Given the description of an element on the screen output the (x, y) to click on. 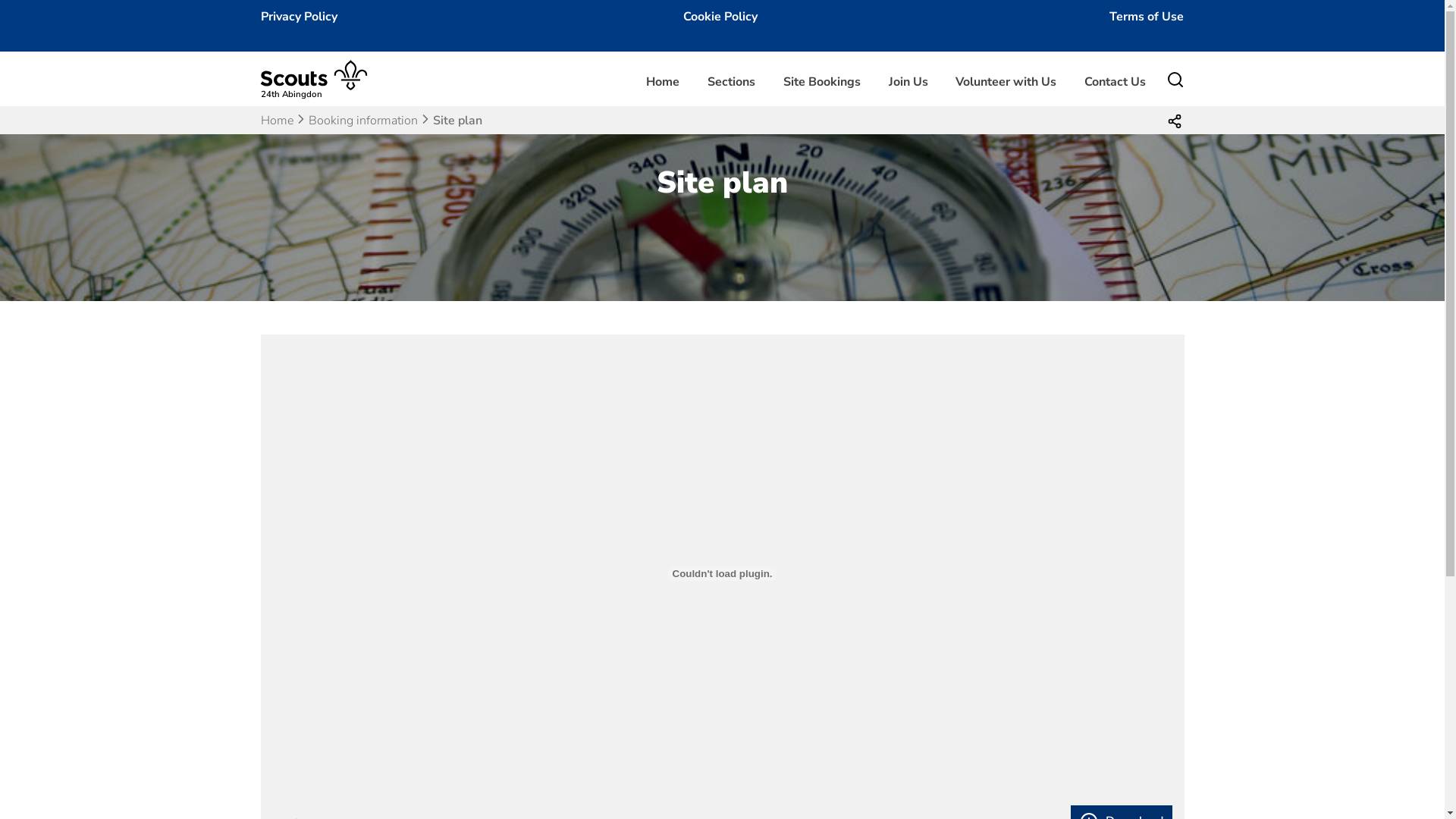
Cookie Policy Element type: text (720, 16)
Sections Element type: text (731, 81)
Booking information Element type: text (362, 120)
24th Abingdon Element type: text (320, 89)
Contact Us Element type: text (1114, 81)
Volunteer with Us Element type: text (1005, 81)
Home Element type: text (662, 81)
Site Bookings Element type: text (821, 81)
Join Us Element type: text (908, 81)
Home Element type: text (276, 120)
Privacy Policy Element type: text (298, 16)
Terms of Use Element type: text (1146, 16)
